Given the description of an element on the screen output the (x, y) to click on. 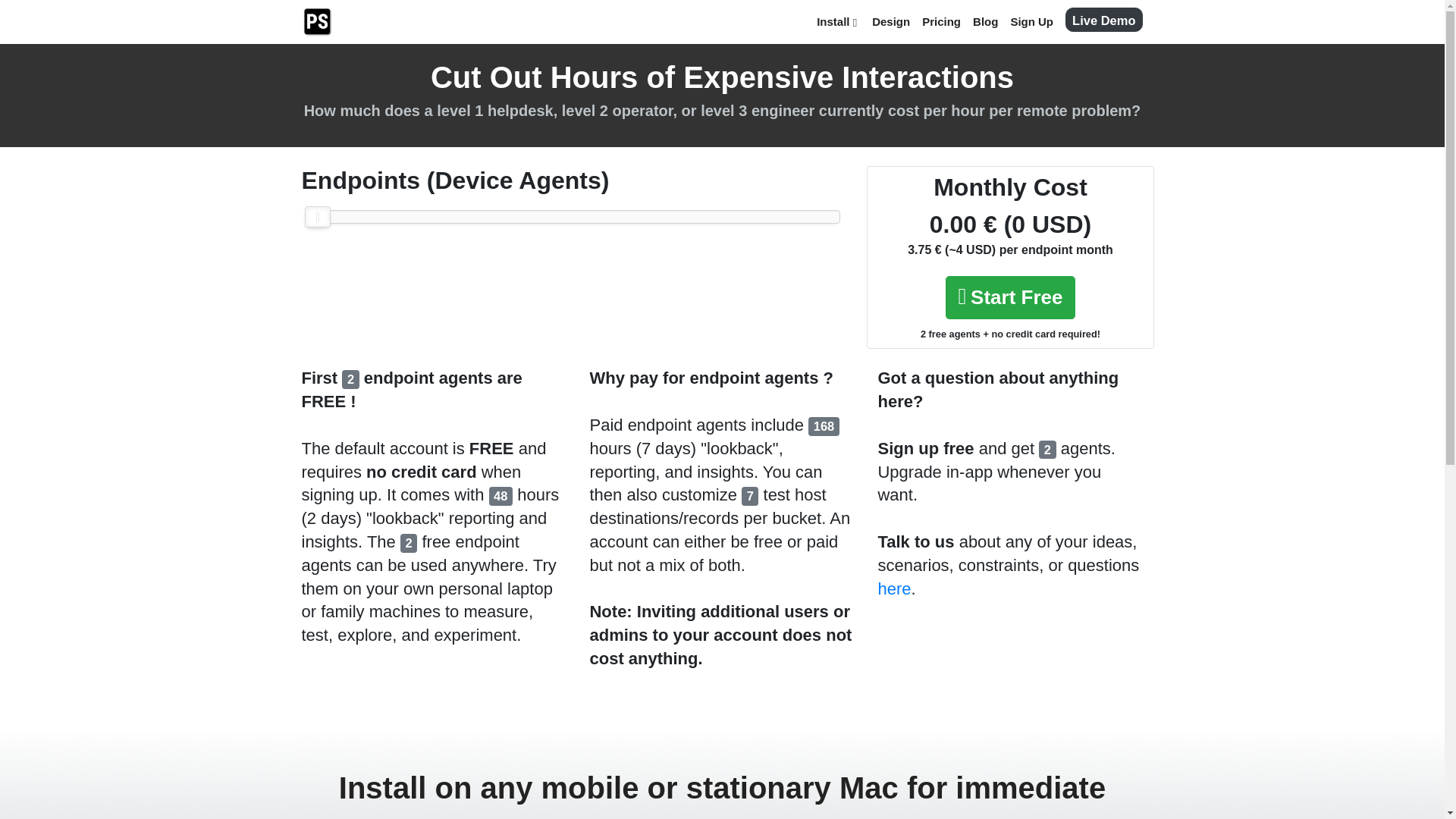
Sign Up (1031, 21)
here (894, 588)
Design (890, 21)
Start Free (1009, 297)
Pricing (940, 21)
Install (838, 21)
Blog (985, 21)
Live Demo (1103, 19)
